Given the description of an element on the screen output the (x, y) to click on. 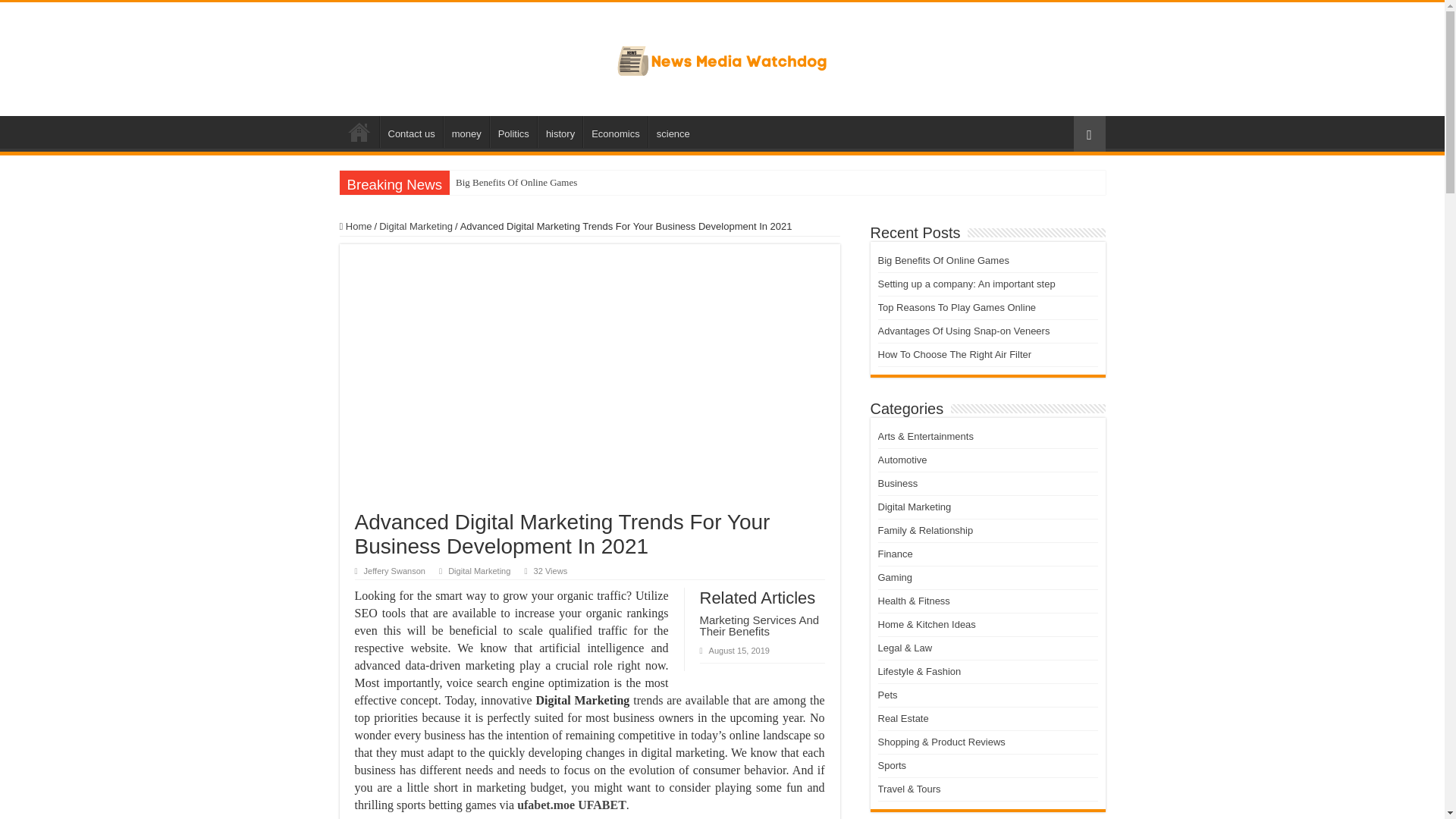
Digital Marketing (479, 570)
Big Benefits Of Online Games (547, 182)
Home (358, 132)
How To Choose The Right Air Filter (954, 354)
Jeffery Swanson (394, 570)
Business (897, 482)
Setting up a company: An important step (966, 283)
science (672, 132)
News Media Watch Dog (721, 55)
history (559, 132)
